Given the description of an element on the screen output the (x, y) to click on. 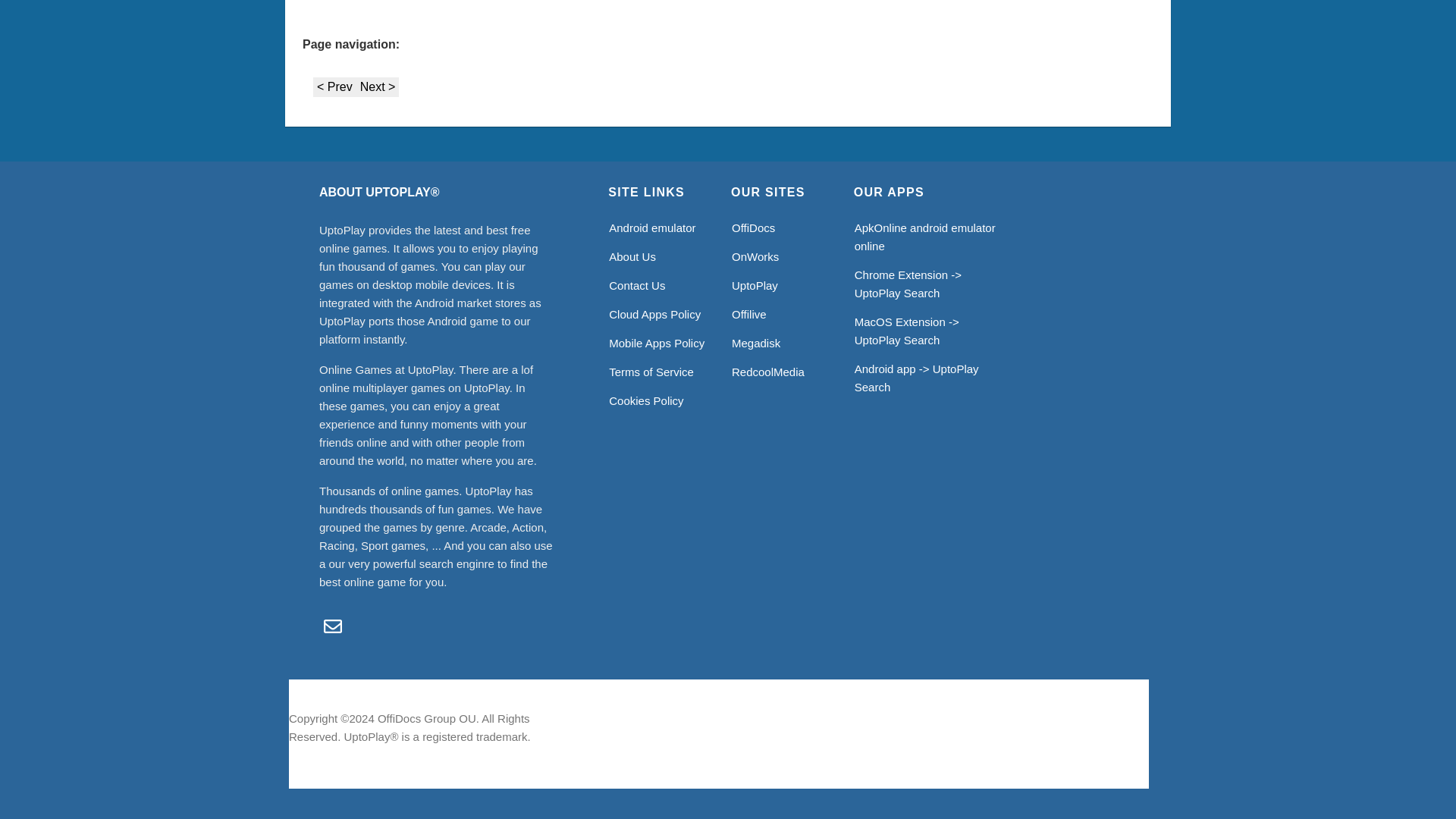
Contact Us (636, 285)
UptoPlay (754, 285)
Terms of Service (651, 371)
Megadisk (756, 342)
Cloud Apps Policy (654, 314)
OffiDocs (753, 227)
Offilive (749, 314)
Mobile Apps Policy (656, 342)
Cookies Policy (645, 400)
Android emulator (651, 227)
About Us (632, 256)
OnWorks (755, 256)
